Given the description of an element on the screen output the (x, y) to click on. 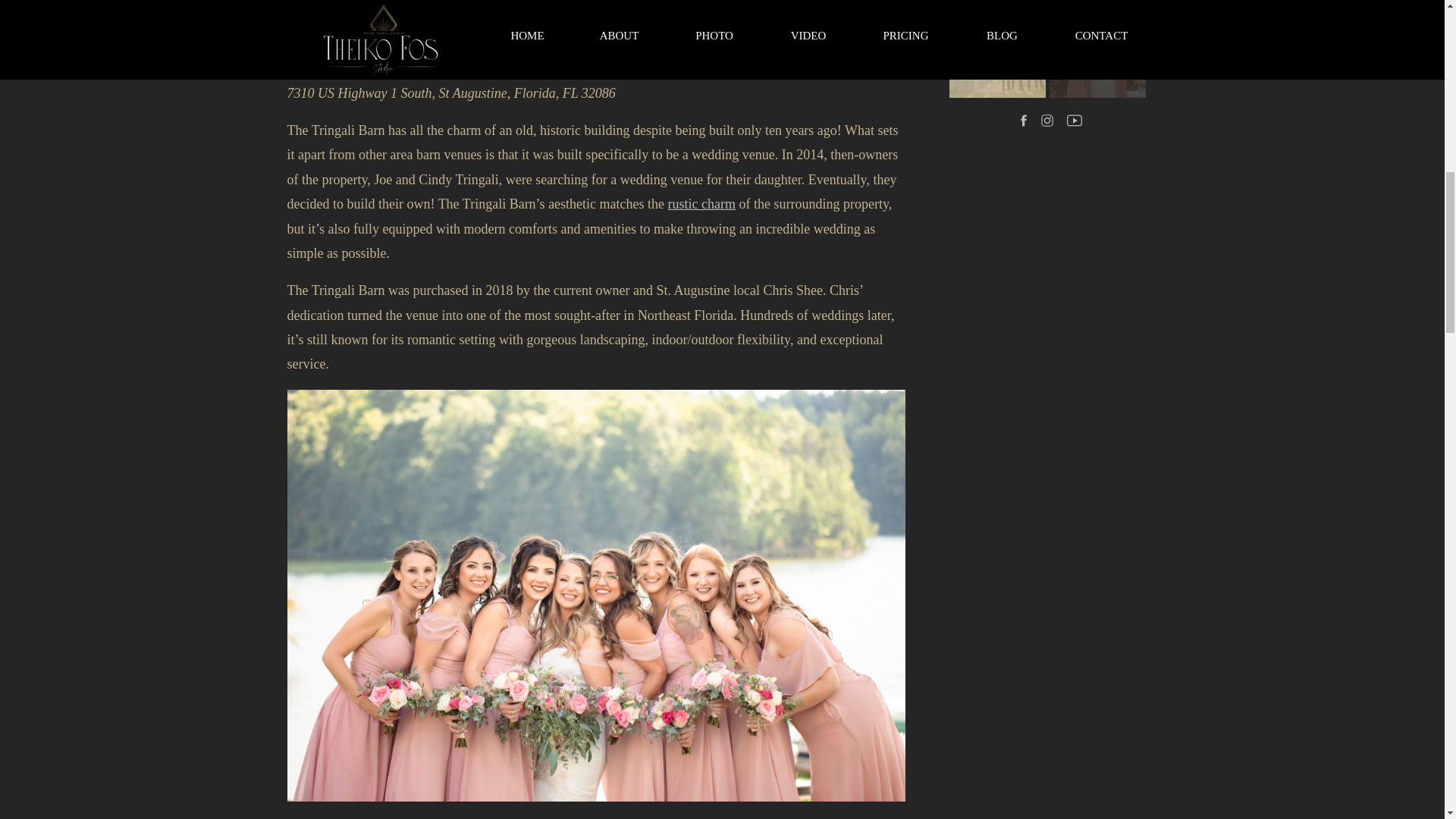
rustic charm (701, 203)
WEDDING VIDEOS (996, 49)
WEDDING VENUES (1093, 48)
